Given the description of an element on the screen output the (x, y) to click on. 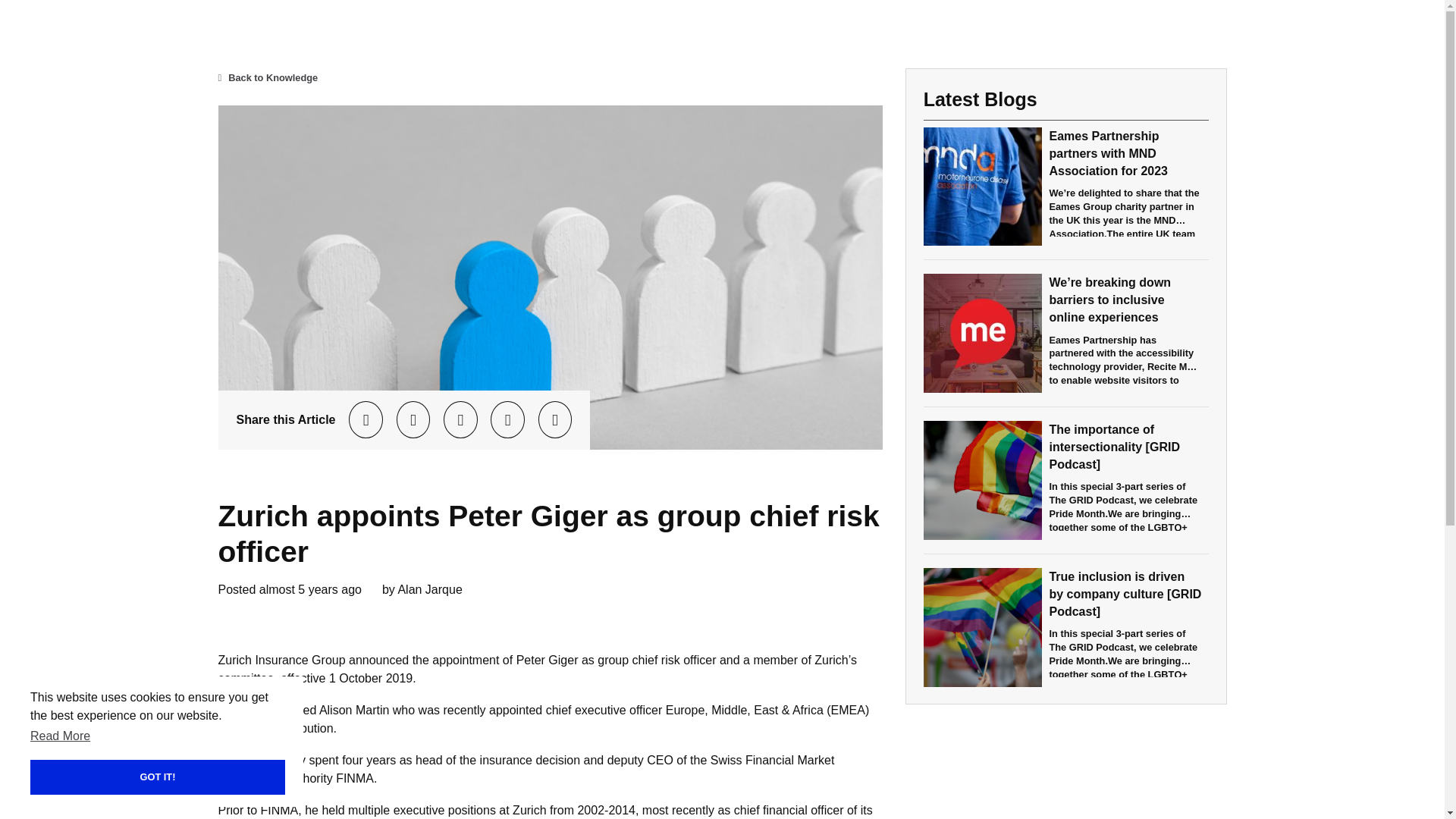
Back to Knowledge (268, 78)
Testimonials (1222, 36)
Contact (1307, 36)
Eames Partnership partners with MND Association for 2023 (1107, 152)
Services (1135, 36)
Read More (60, 735)
GOT IT! (116, 777)
About us (1059, 36)
